Given the description of an element on the screen output the (x, y) to click on. 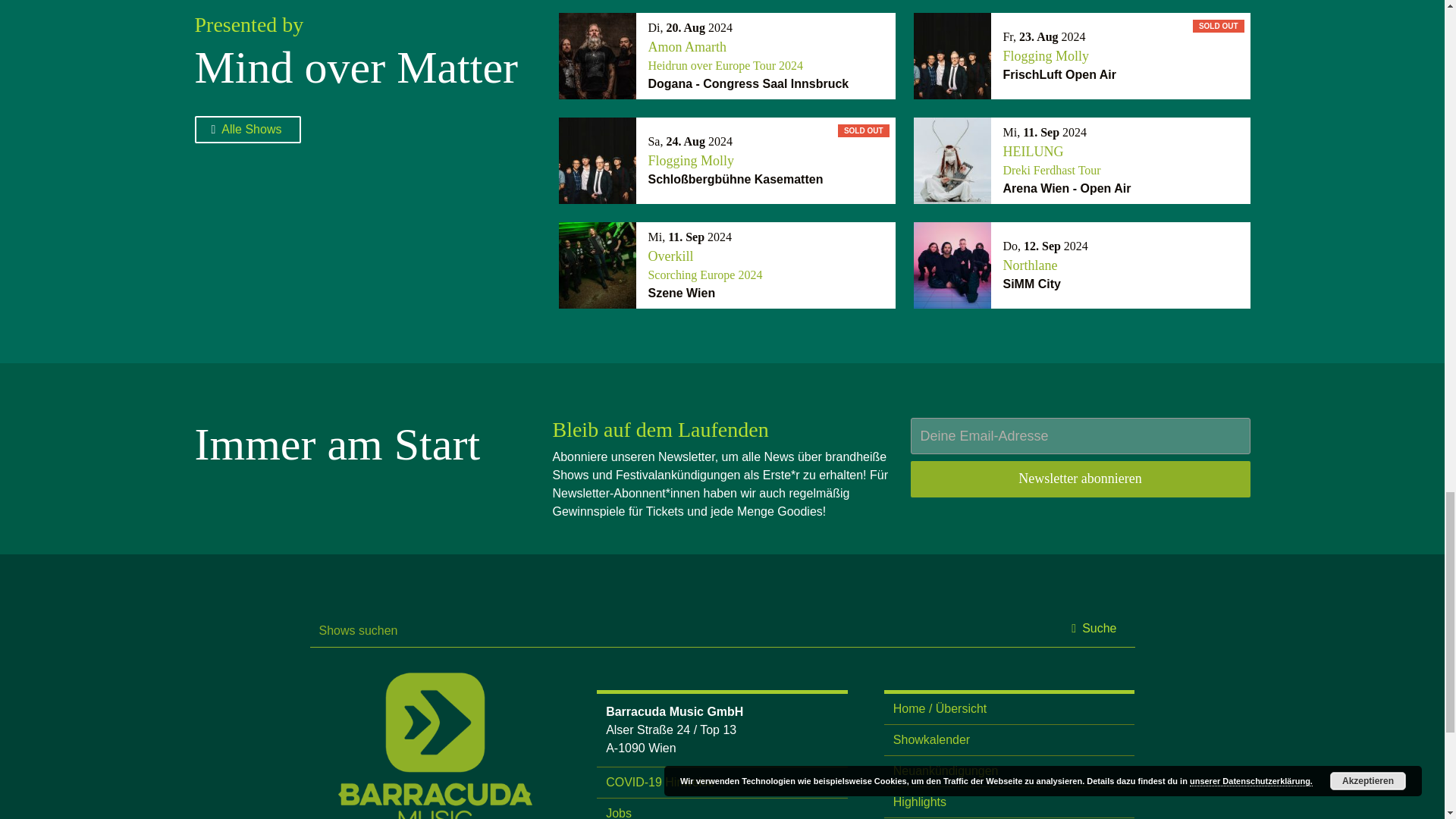
Jobs (1122, 55)
Suche (1122, 265)
COVID-19 Hinweise (618, 812)
Alle Shows (766, 265)
Newsletter abonnieren (1095, 628)
